Given the description of an element on the screen output the (x, y) to click on. 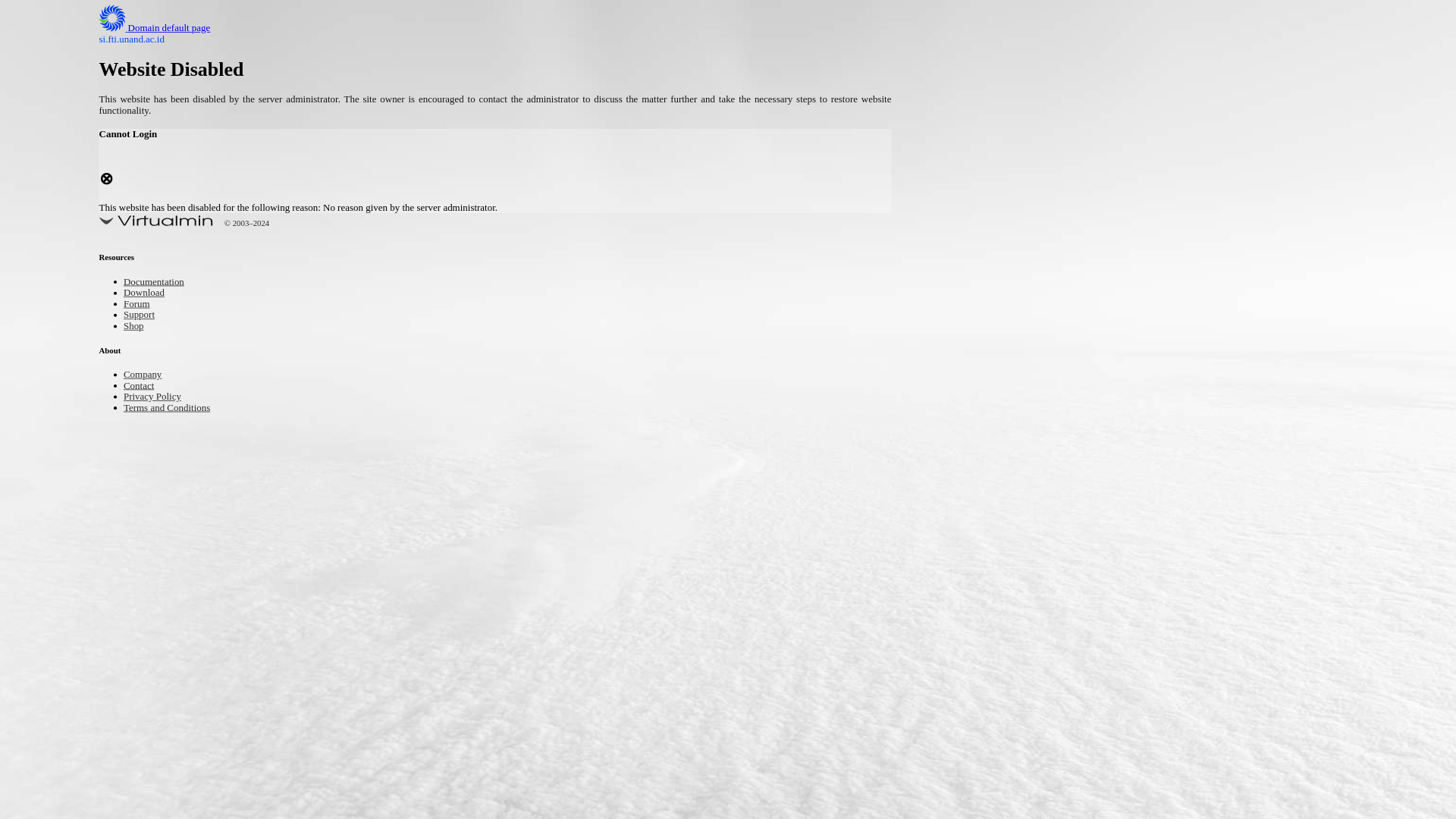
Download (148, 293)
Documentation (160, 282)
Company (146, 374)
Contact (142, 386)
Support (142, 315)
Domain default page (167, 29)
Privacy Policy (159, 397)
Shop (135, 327)
Forum (139, 305)
Terms and Conditions (176, 408)
